Given the description of an element on the screen output the (x, y) to click on. 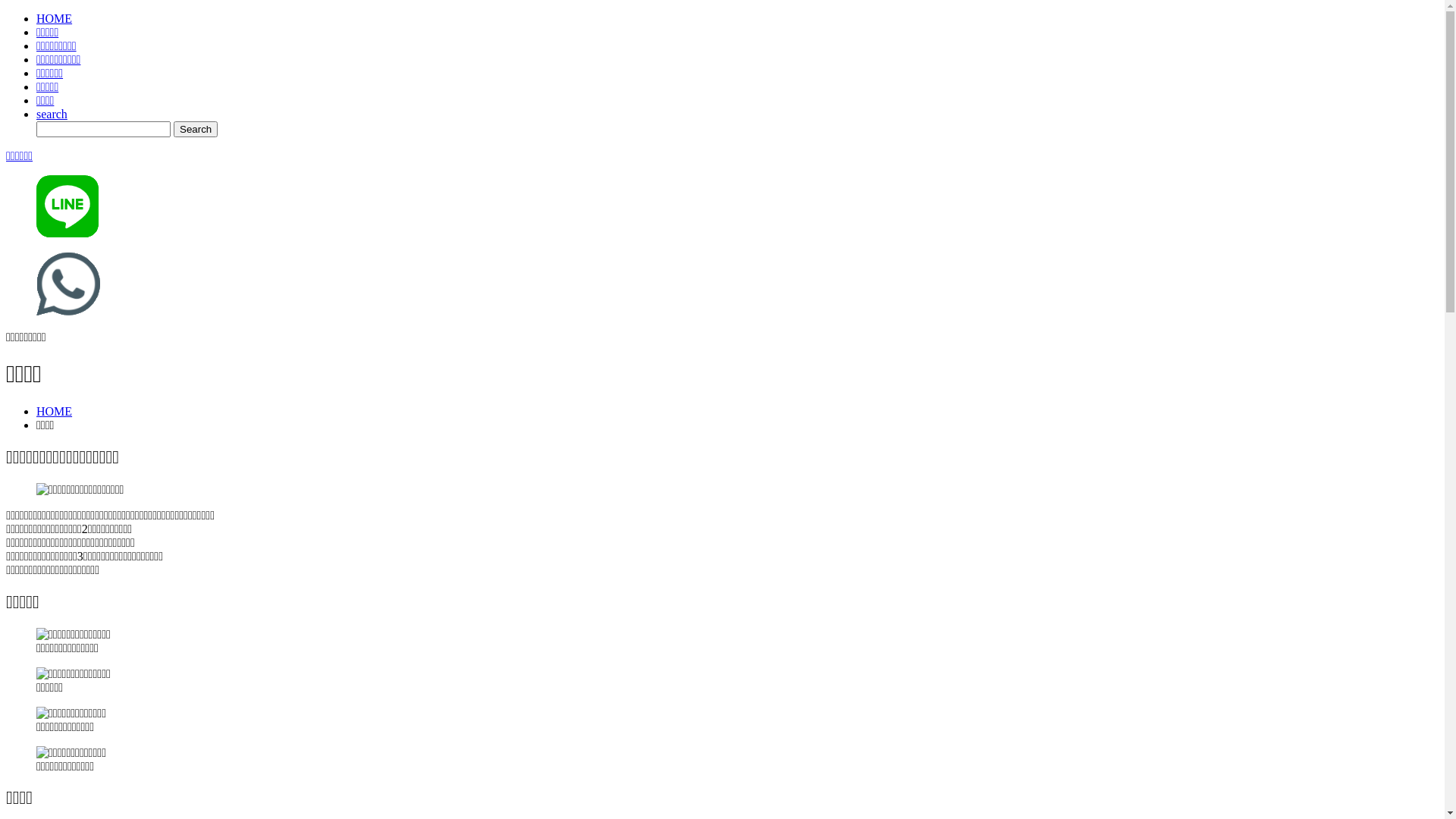
Search Element type: text (195, 129)
search Element type: text (51, 113)
HOME Element type: text (54, 18)
HOME Element type: text (54, 410)
